Given the description of an element on the screen output the (x, y) to click on. 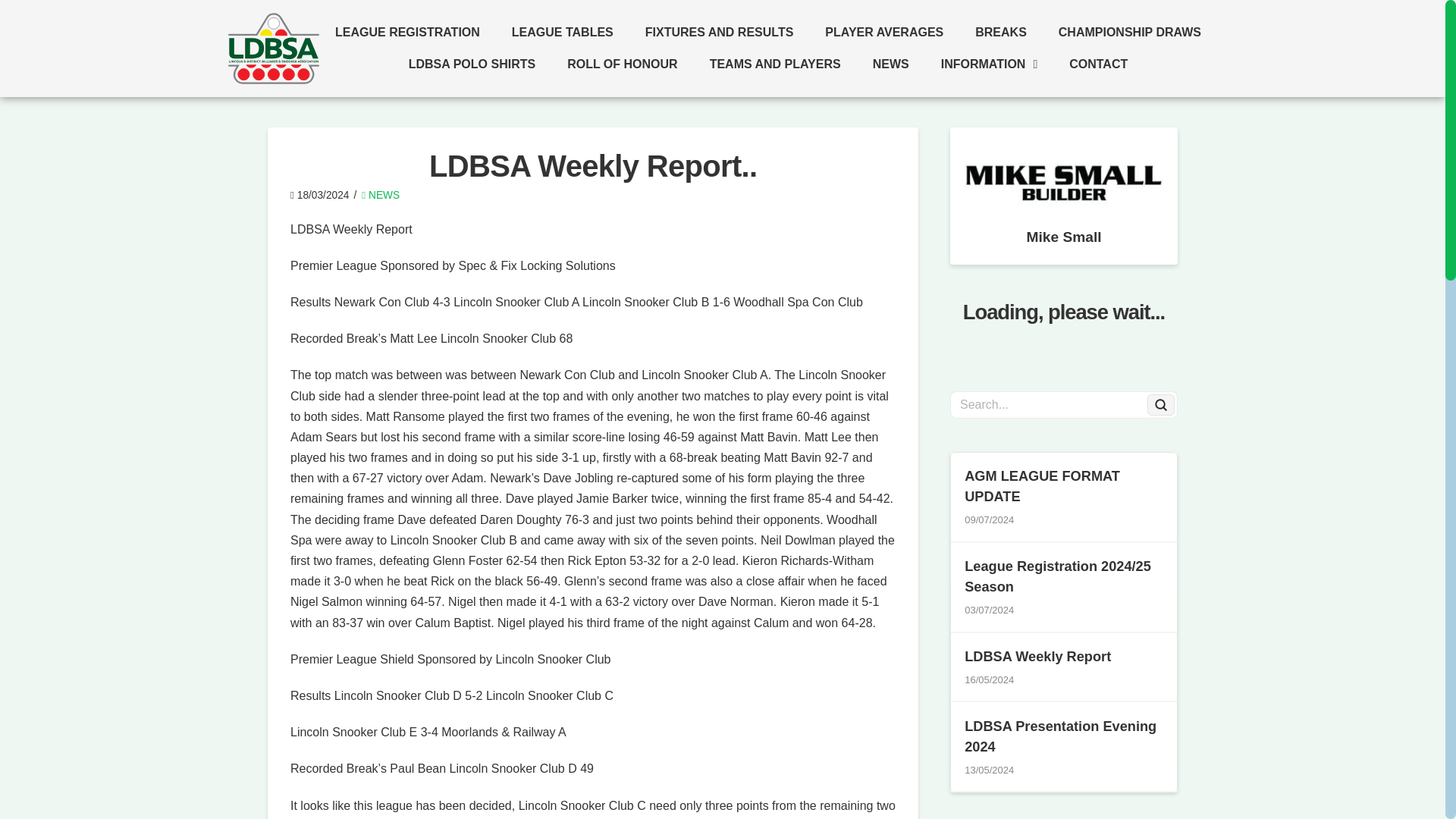
TEAMS AND PLAYERS (775, 63)
BREAKS (1000, 32)
PLAYER AVERAGES (884, 32)
NEWS (379, 194)
LEAGUE REGISTRATION (407, 32)
LDBSA (273, 49)
NEWS (890, 63)
ROLL OF HONOUR (622, 63)
LDBSA POLO SHIRTS (472, 63)
CHAMPIONSHIP DRAWS (1129, 32)
Submit (1160, 404)
LEAGUE TABLES (562, 32)
INFORMATION (989, 63)
CONTACT (1097, 63)
FIXTURES AND RESULTS (718, 32)
